Given the description of an element on the screen output the (x, y) to click on. 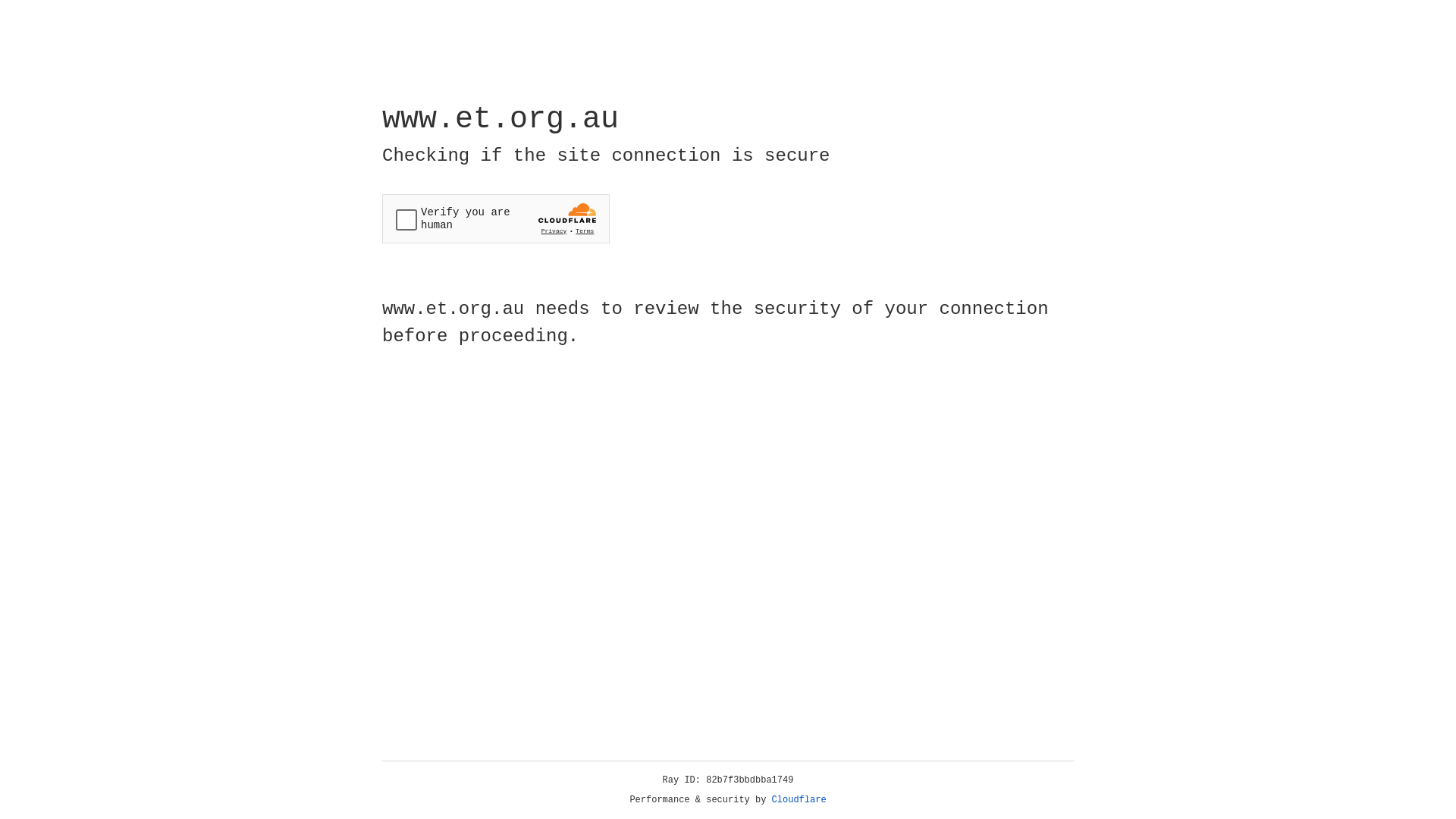
Cloudflare Element type: text (798, 799)
Widget containing a Cloudflare security challenge Element type: hover (495, 218)
